Given the description of an element on the screen output the (x, y) to click on. 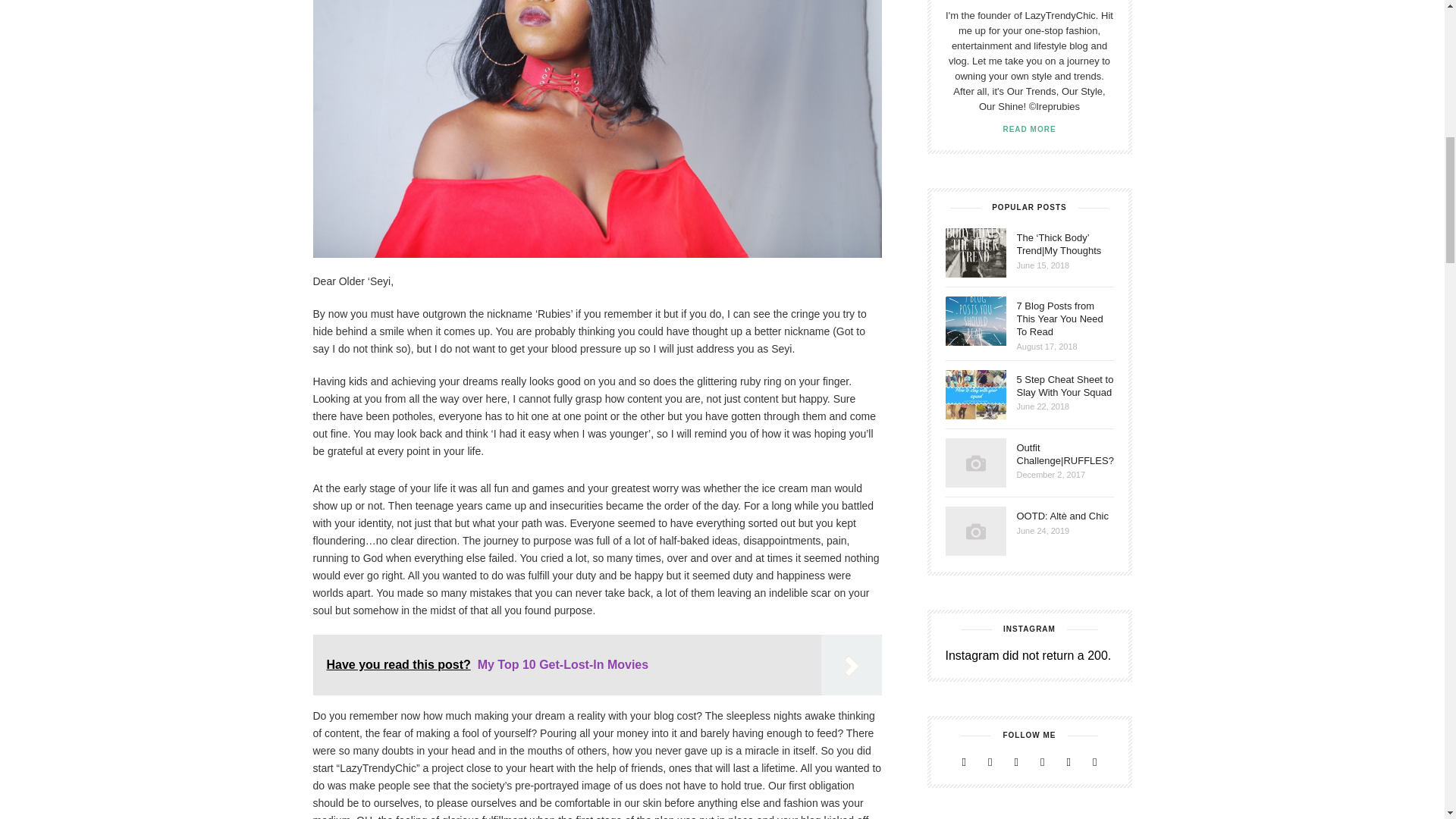
Have you read this post?  My Top 10 Get-Lost-In Movies (596, 664)
